Given the description of an element on the screen output the (x, y) to click on. 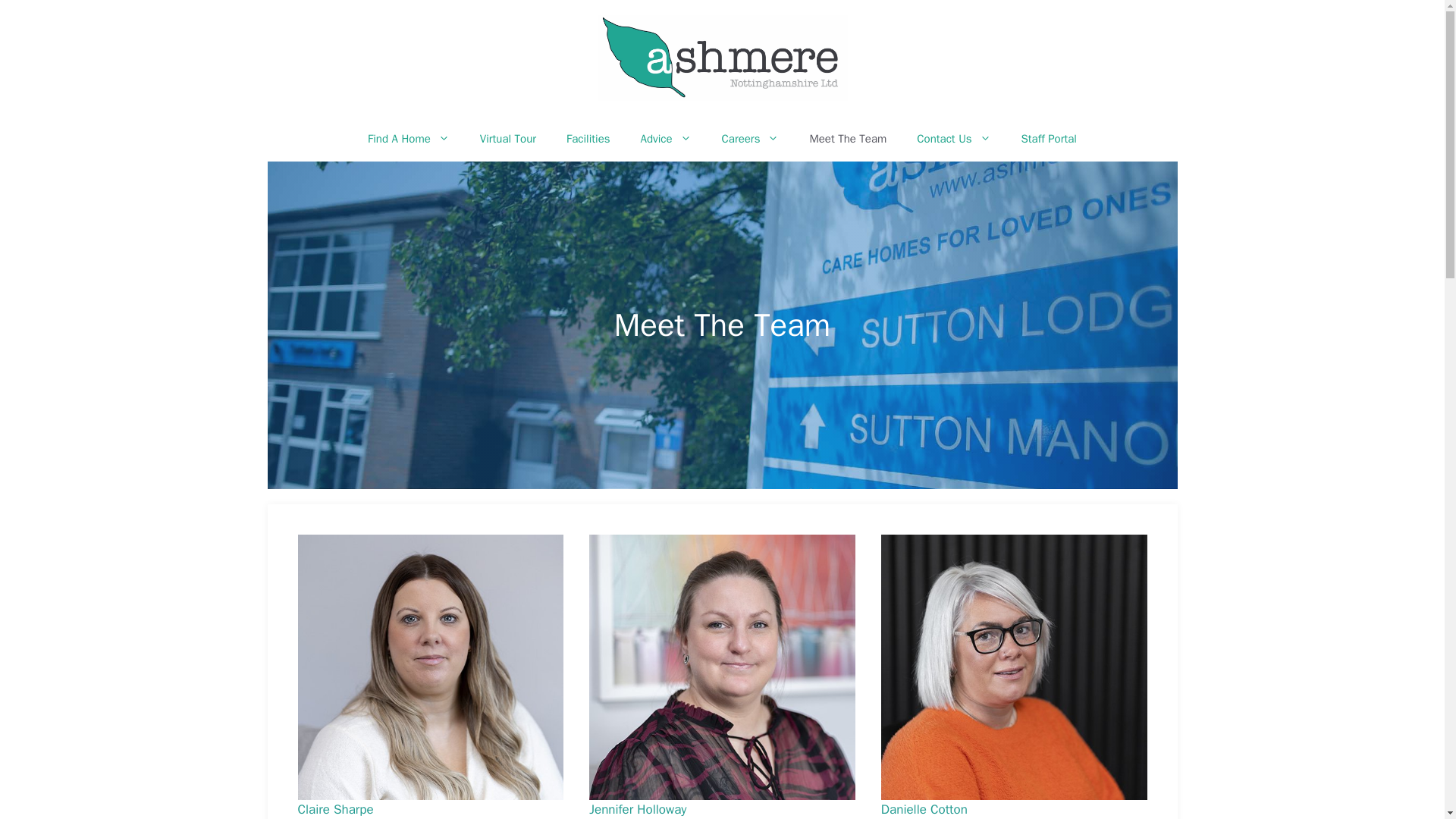
Facilities (588, 138)
Staff Portal (1049, 138)
Virtual Tour (507, 138)
Contact Us (953, 138)
Advice (666, 138)
Meet The Team (847, 138)
Careers (750, 138)
Find A Home (408, 138)
